Given the description of an element on the screen output the (x, y) to click on. 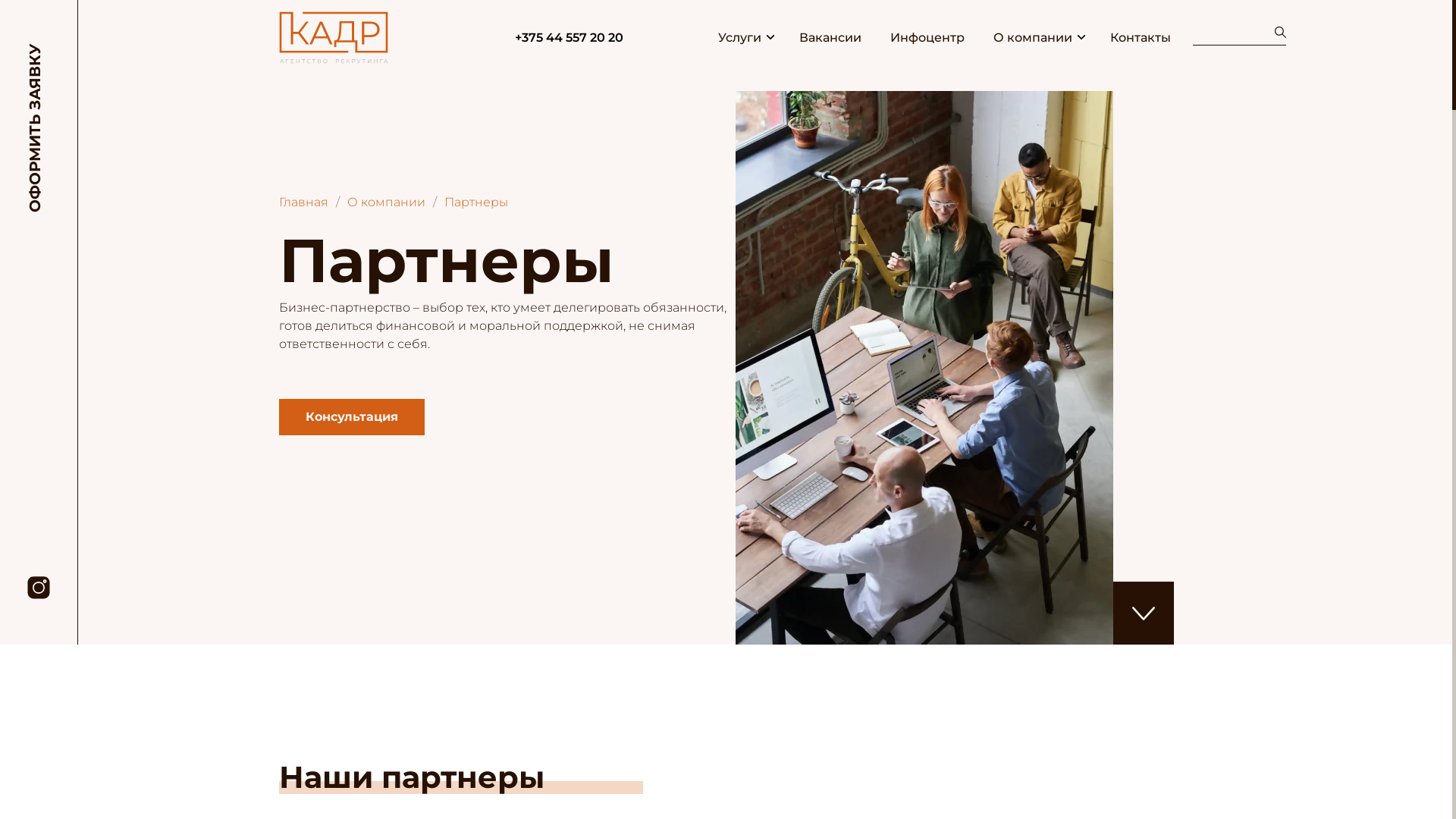
+375 44 557 20 20 Element type: text (568, 37)
